Given the description of an element on the screen output the (x, y) to click on. 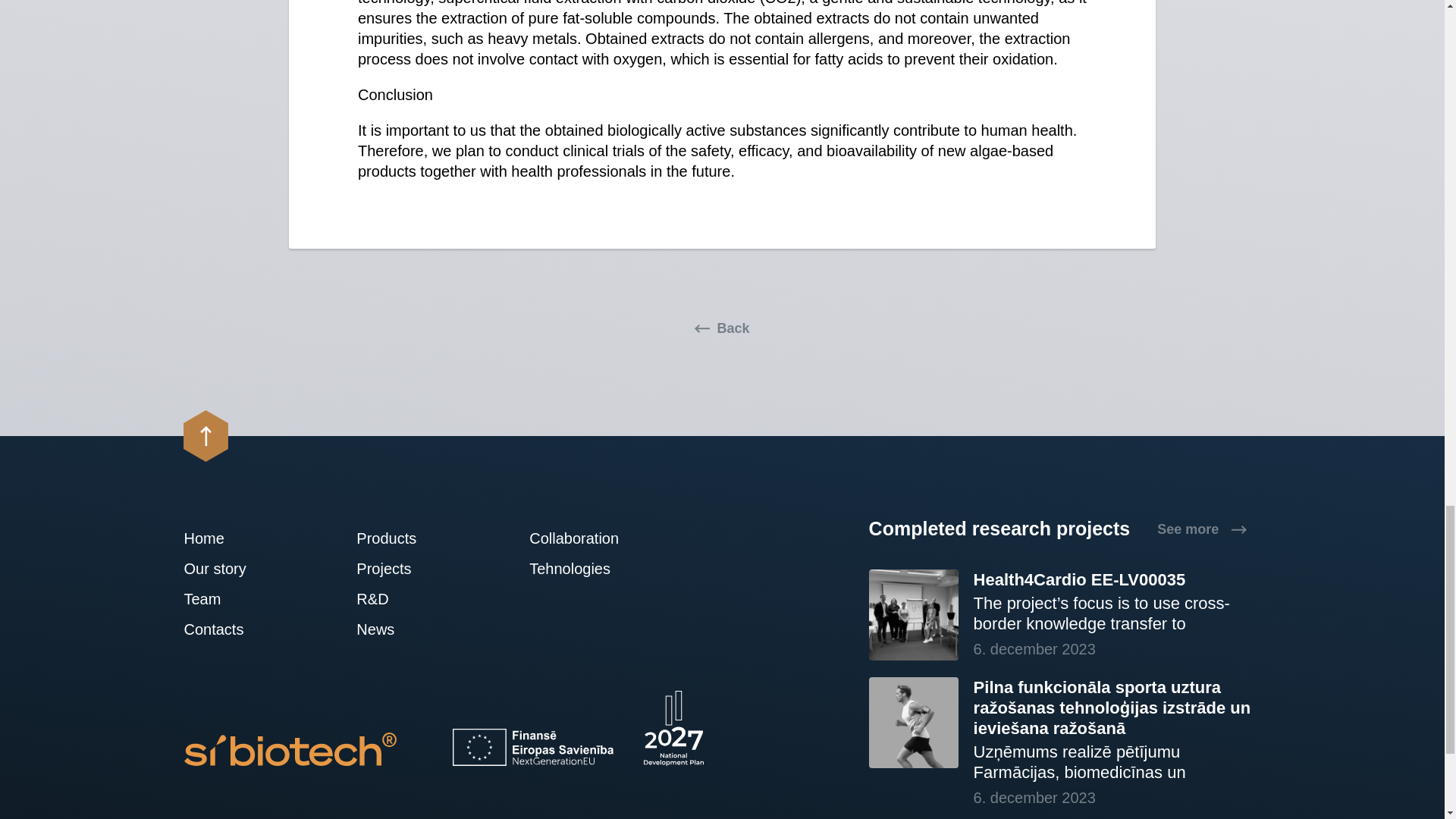
Tehnologies (573, 568)
Projects (400, 568)
Our story (228, 568)
Home (228, 538)
Contacts (228, 629)
Collaboration (573, 538)
News (400, 629)
Back (721, 328)
Products (400, 538)
See more (1201, 529)
Team (228, 598)
